Given the description of an element on the screen output the (x, y) to click on. 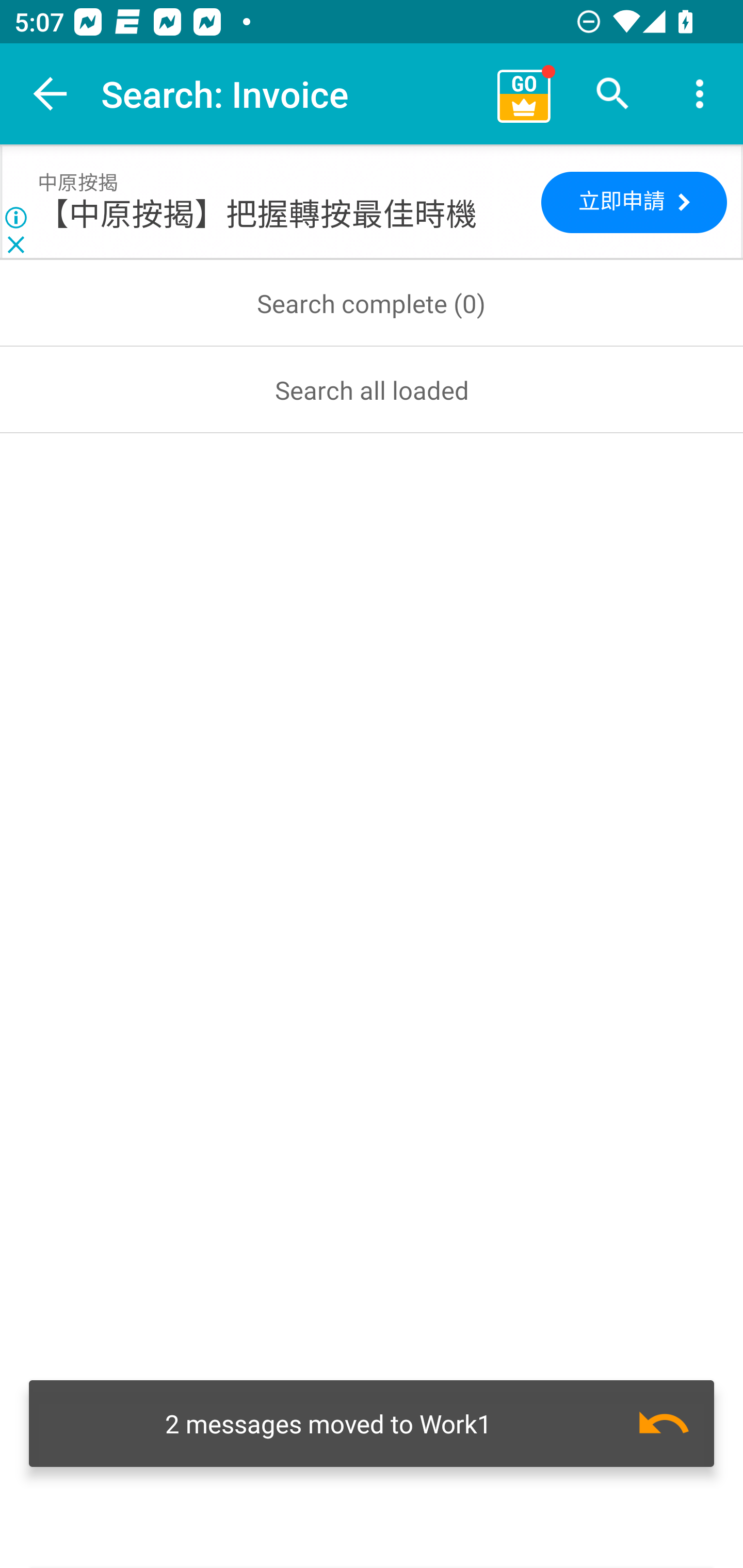
Navigate up (50, 93)
Search (612, 93)
More options (699, 93)
中原按揭 (77, 182)
立即申請 (634, 202)
【中原按揭】把握轉按最佳時機 (257, 214)
Search complete (0) (371, 303)
Search all loaded (371, 389)
Undo 2 messages moved to Work1 (371, 1423)
